Given the description of an element on the screen output the (x, y) to click on. 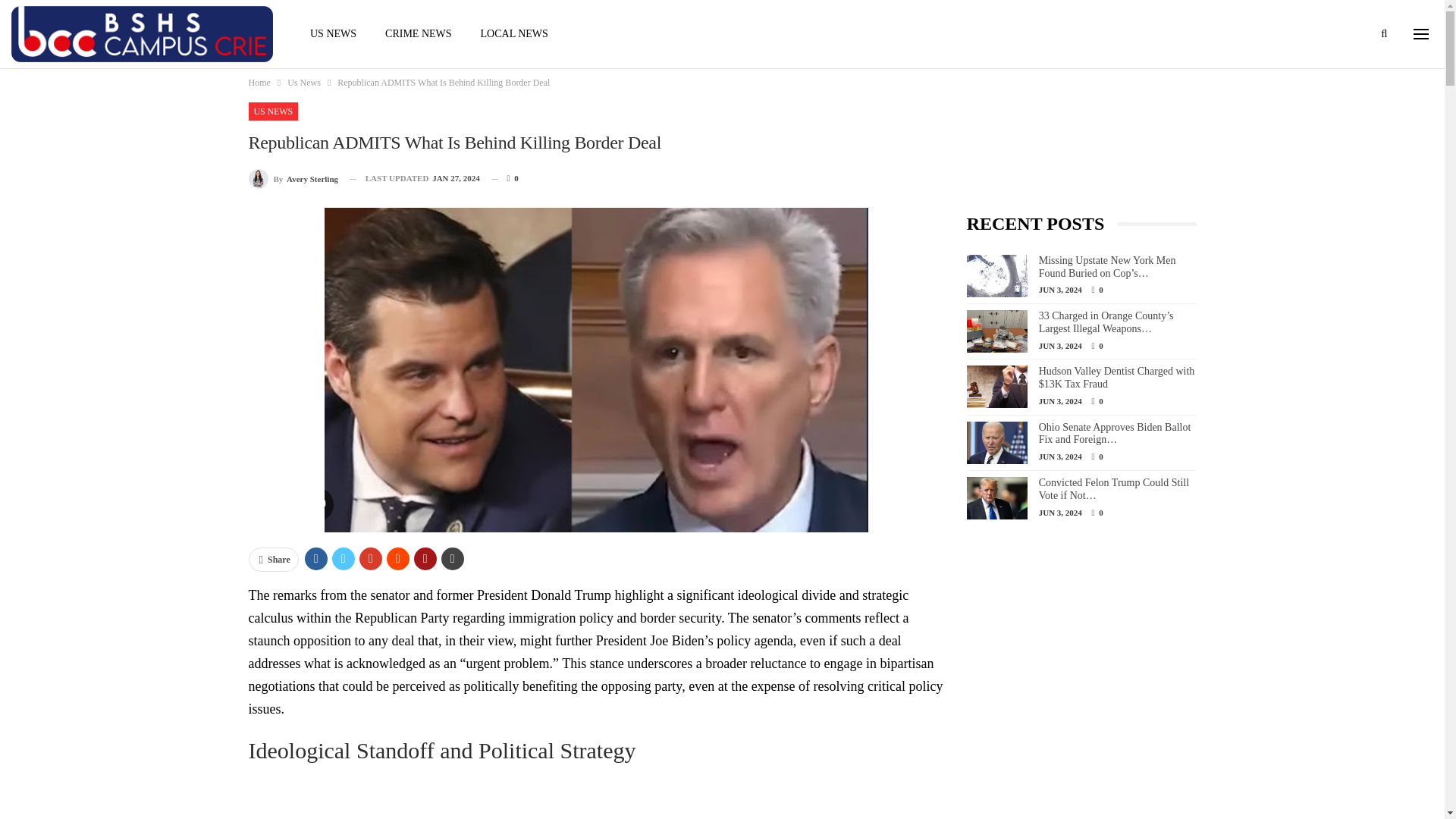
Republican ADMITS What Is Behind Killing Border Deal (595, 796)
Home (259, 82)
Browse Author Articles (293, 178)
0 (505, 178)
US NEWS (273, 111)
CRIME NEWS (418, 33)
US NEWS (333, 33)
Us News (303, 82)
LOCAL NEWS (513, 33)
By Avery Sterling (293, 178)
